Given the description of an element on the screen output the (x, y) to click on. 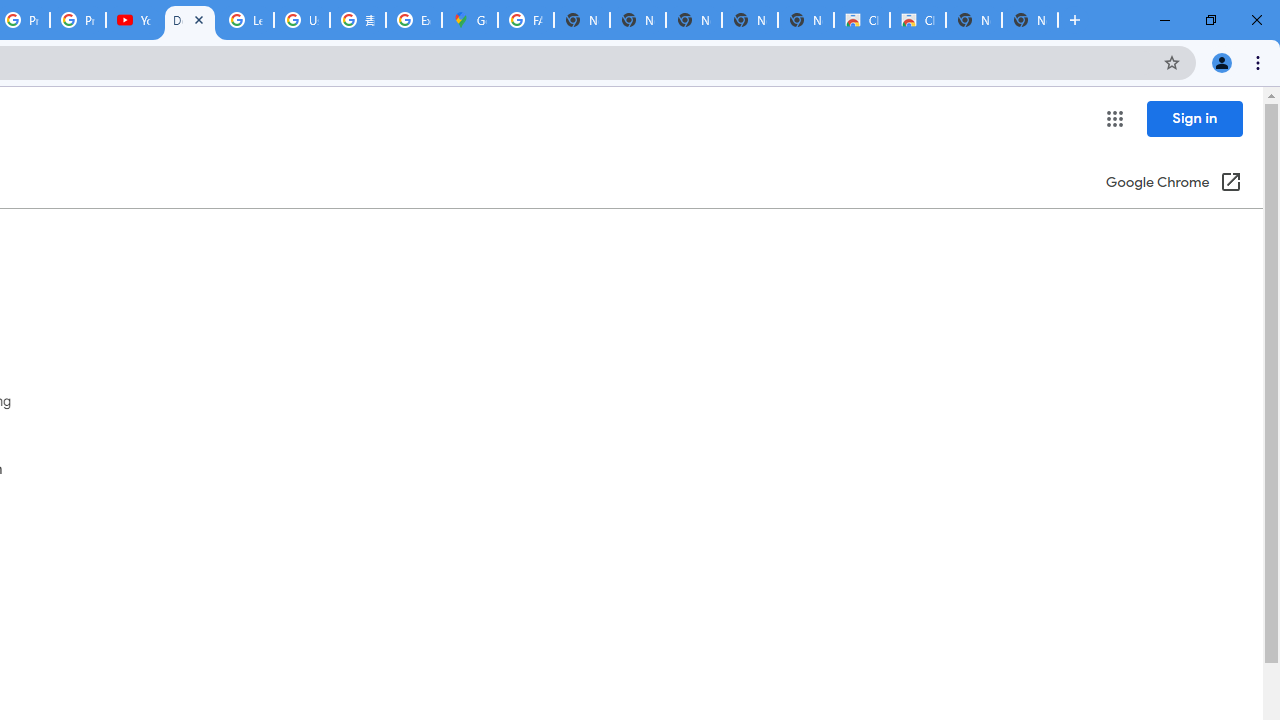
YouTube (134, 20)
Classic Blue - Chrome Web Store (917, 20)
